Given the description of an element on the screen output the (x, y) to click on. 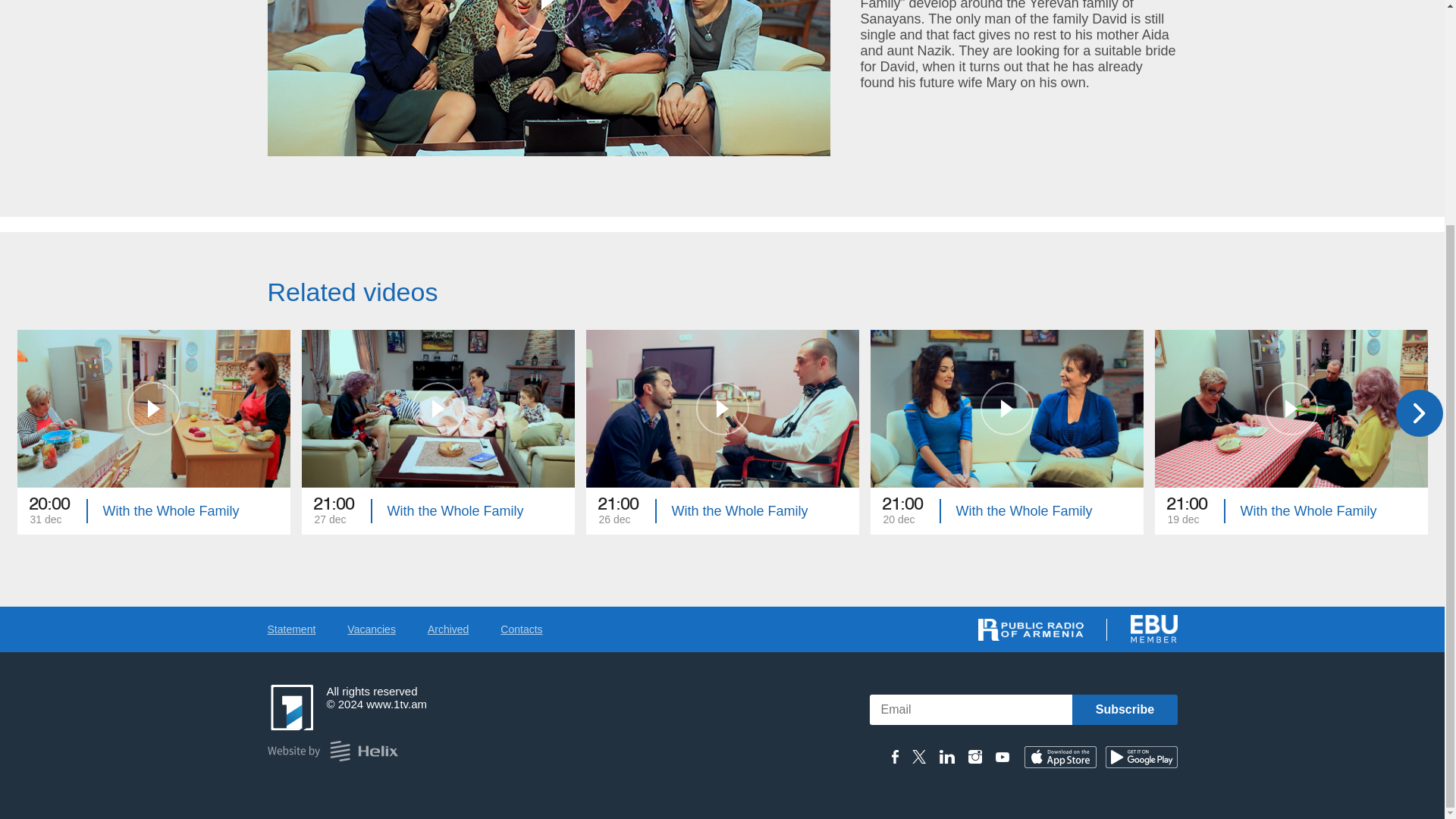
Vacancies (371, 629)
Archived (1006, 432)
Subscribe (438, 432)
Contacts (448, 629)
Statement (1123, 709)
